Given the description of an element on the screen output the (x, y) to click on. 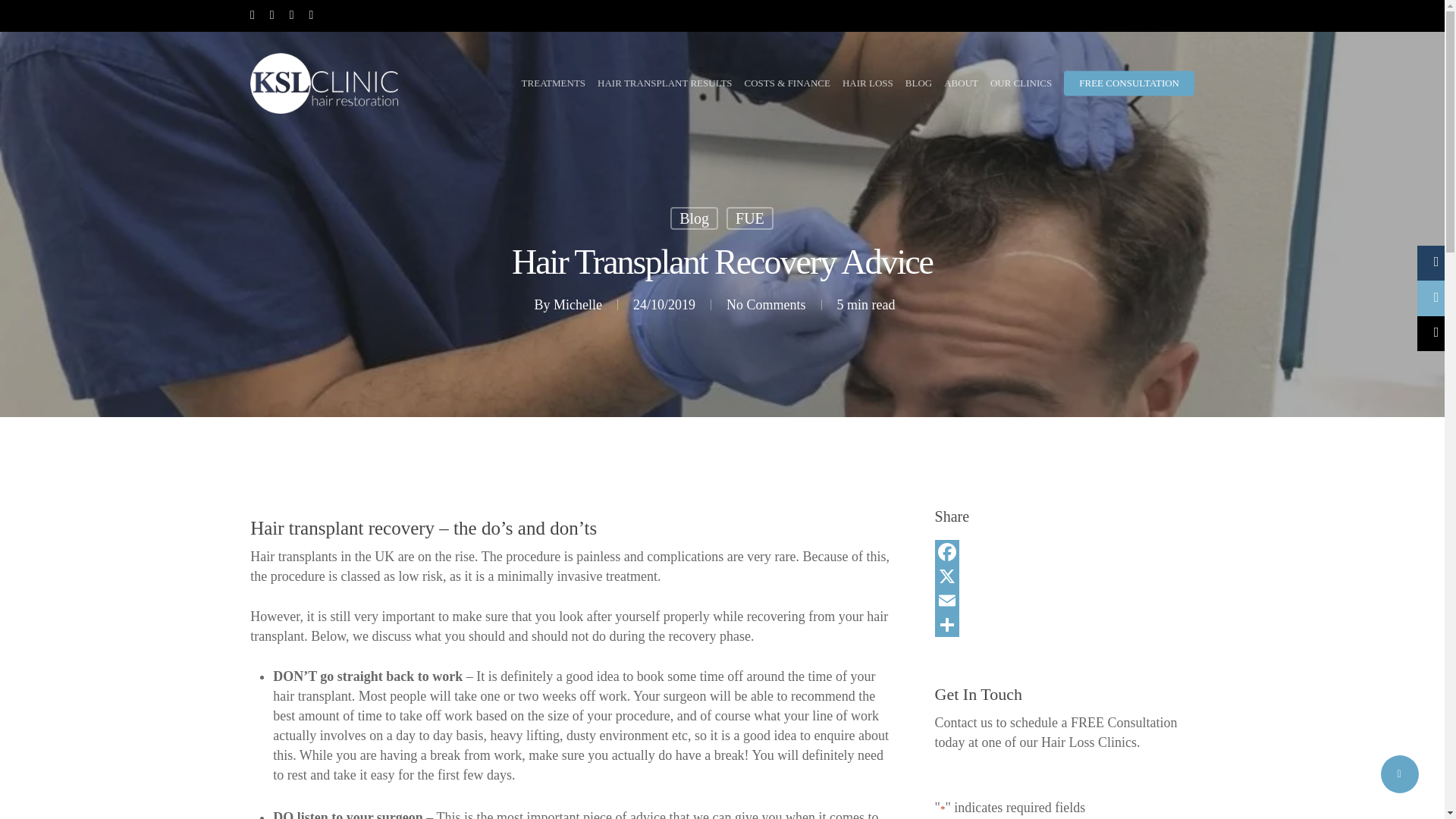
TREATMENTS (553, 83)
Facebook (1063, 551)
HAIR LOSS (868, 83)
Email (1063, 600)
HAIR TRANSPLANT RESULTS (664, 83)
X (1063, 576)
Posts by Michelle (577, 304)
BLOG (918, 83)
